Given the description of an element on the screen output the (x, y) to click on. 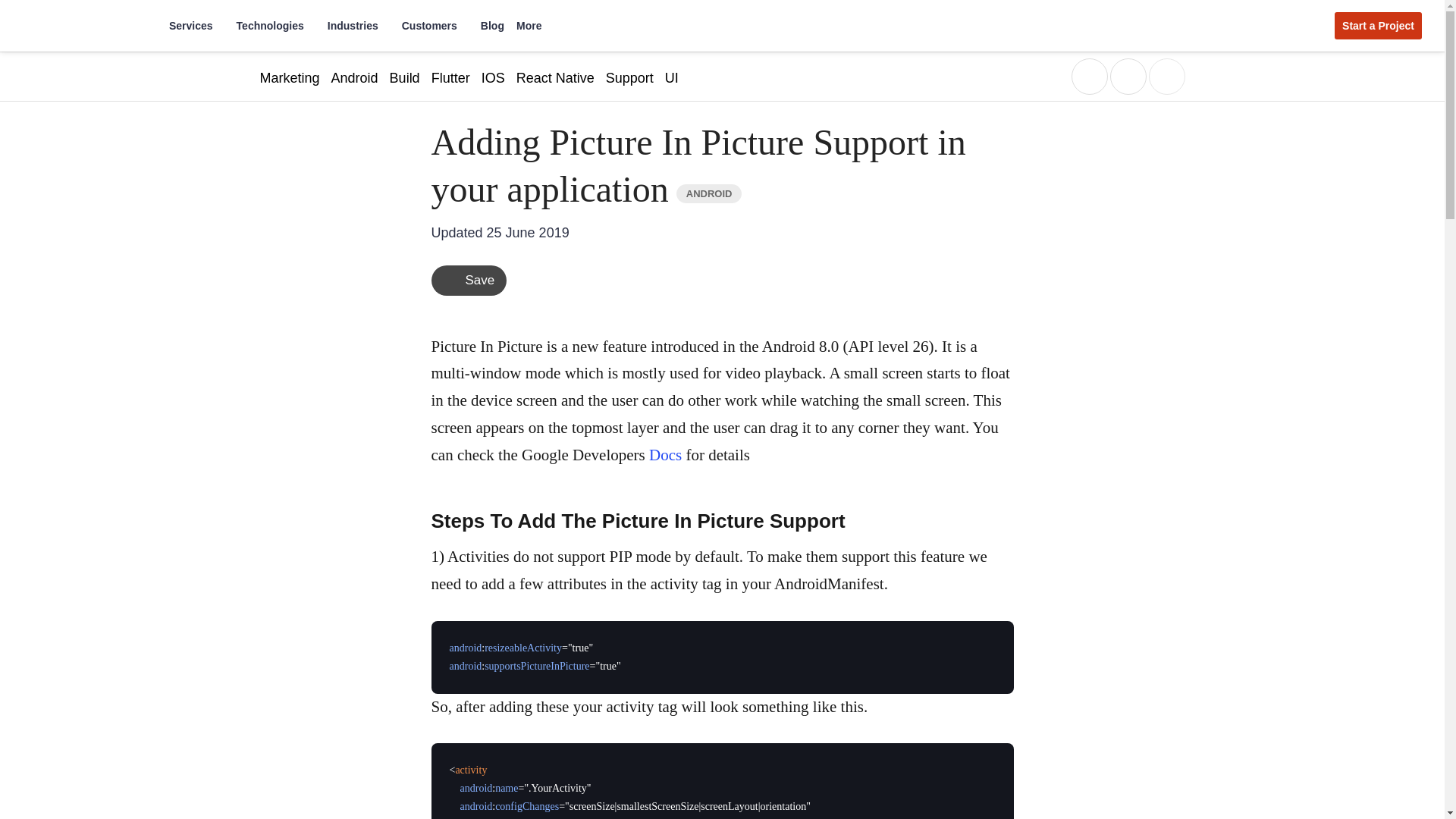
Services (196, 26)
